Given the description of an element on the screen output the (x, y) to click on. 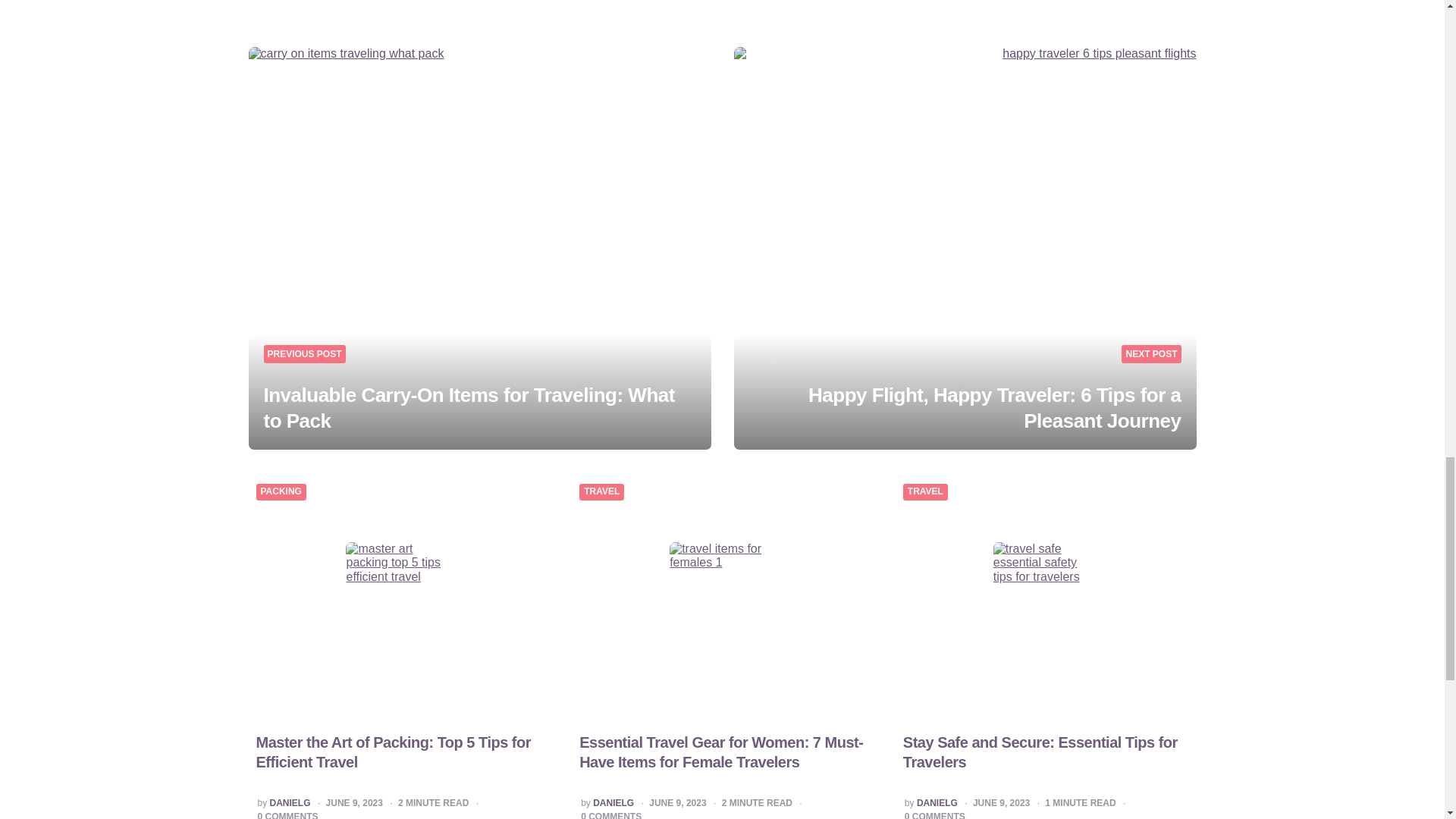
Stay Safe and Secure: Essential Tips for Travelers (1039, 751)
DANIELG (290, 803)
Happy Flight, Happy Traveler: 6 Tips for a Pleasant Journey (994, 408)
PACKING (280, 491)
Invaluable Carry-On Items for Traveling: What to Pack (469, 408)
Master the Art of Packing: Top 5 Tips for Efficient Travel (393, 751)
TRAVEL (601, 491)
DANIELG (612, 803)
TRAVEL (925, 491)
